Given the description of an element on the screen output the (x, y) to click on. 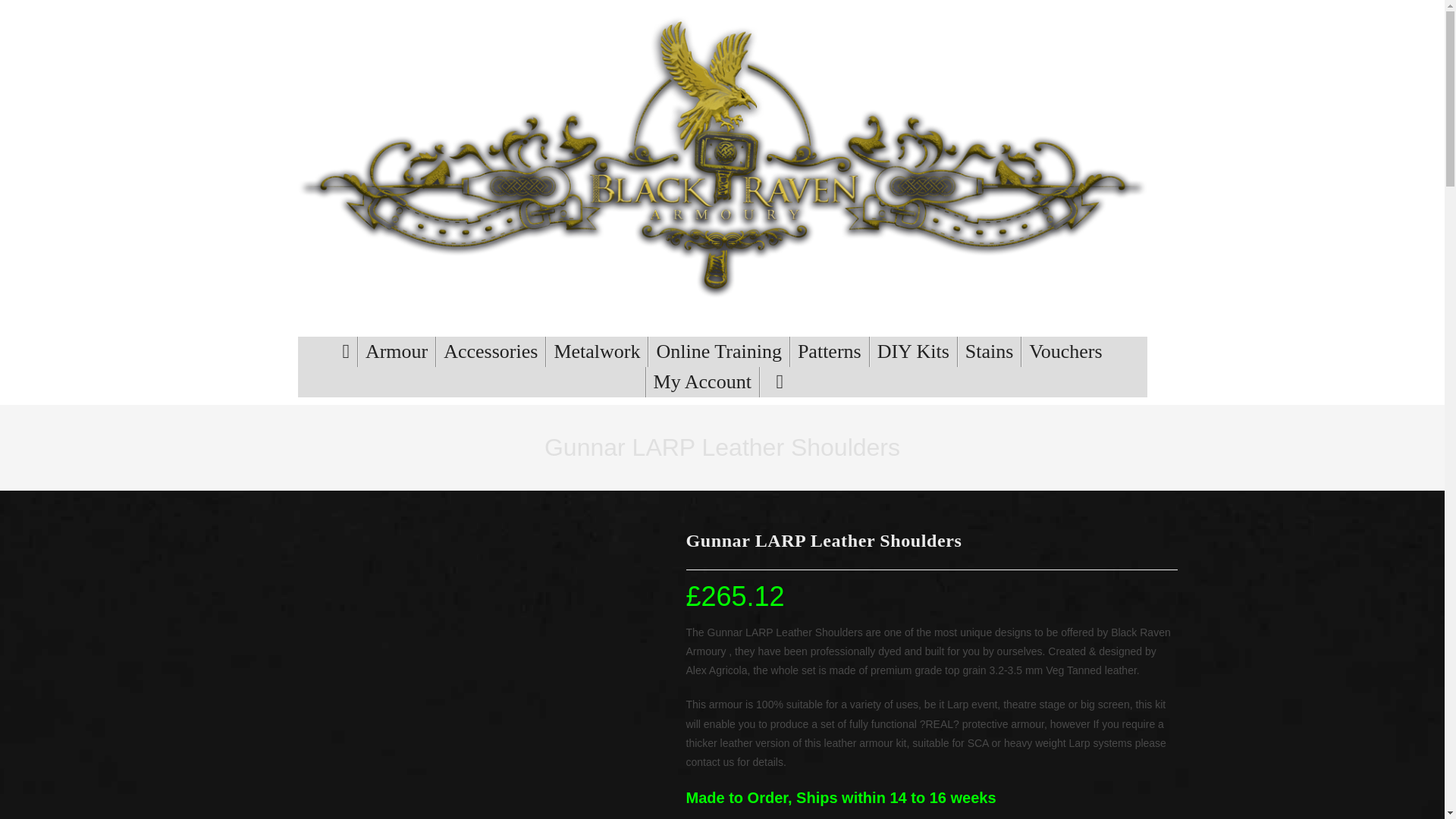
Online Training (718, 351)
Patterns (829, 351)
Metalwork (596, 351)
Stains (990, 351)
DIY Kits (912, 351)
Armour (396, 351)
My Account (702, 381)
Accessories (489, 351)
Vouchers (1065, 351)
